Given the description of an element on the screen output the (x, y) to click on. 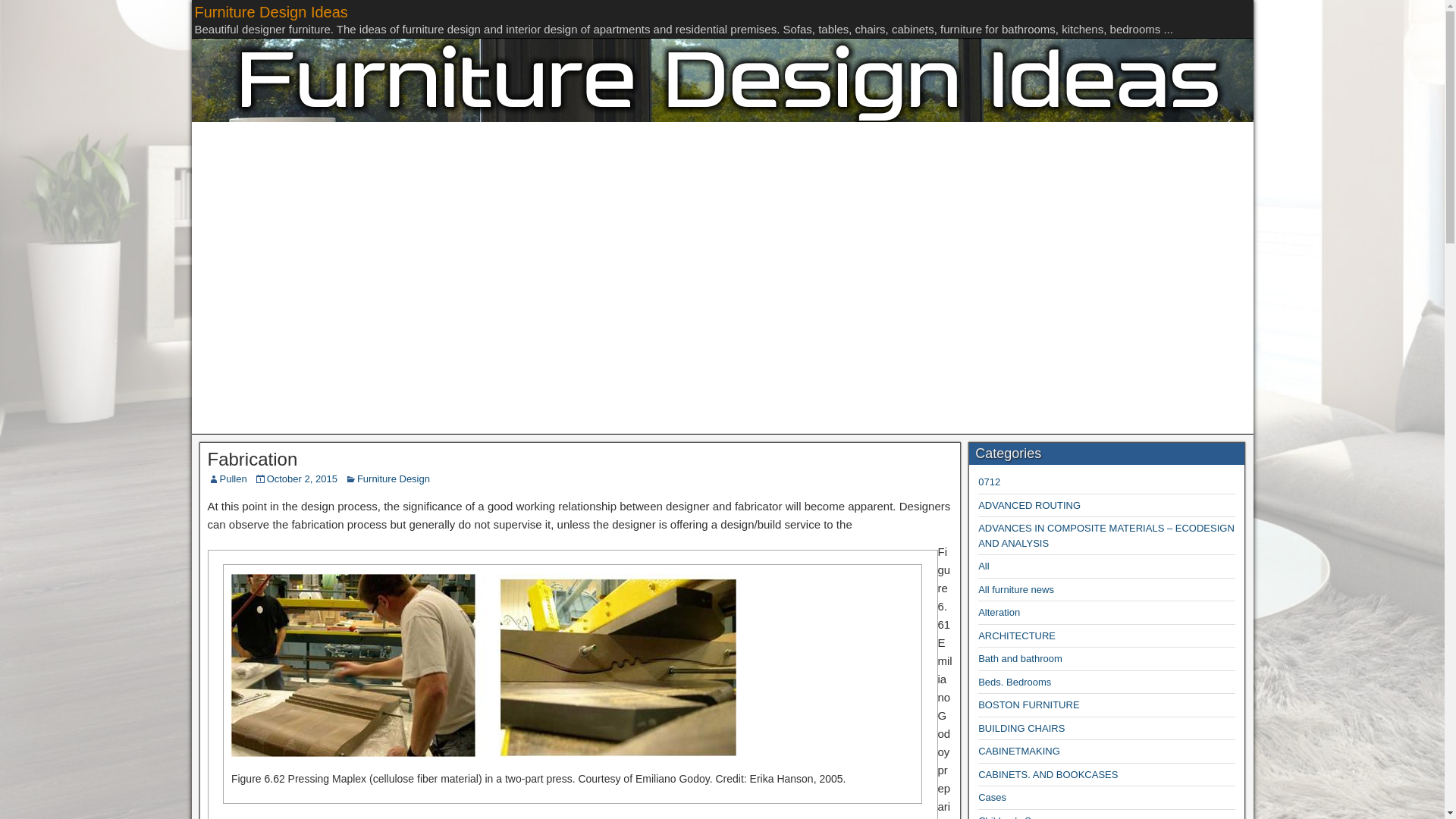
Fabrication (483, 665)
BOSTON FURNITURE (1028, 704)
All furniture news (1016, 589)
Fabrication (253, 458)
Pullen (233, 478)
Furniture Design (392, 478)
Furniture Design Ideas (270, 12)
CABINETS. AND BOOKCASES (1048, 774)
All (983, 565)
0712 (989, 481)
